Given the description of an element on the screen output the (x, y) to click on. 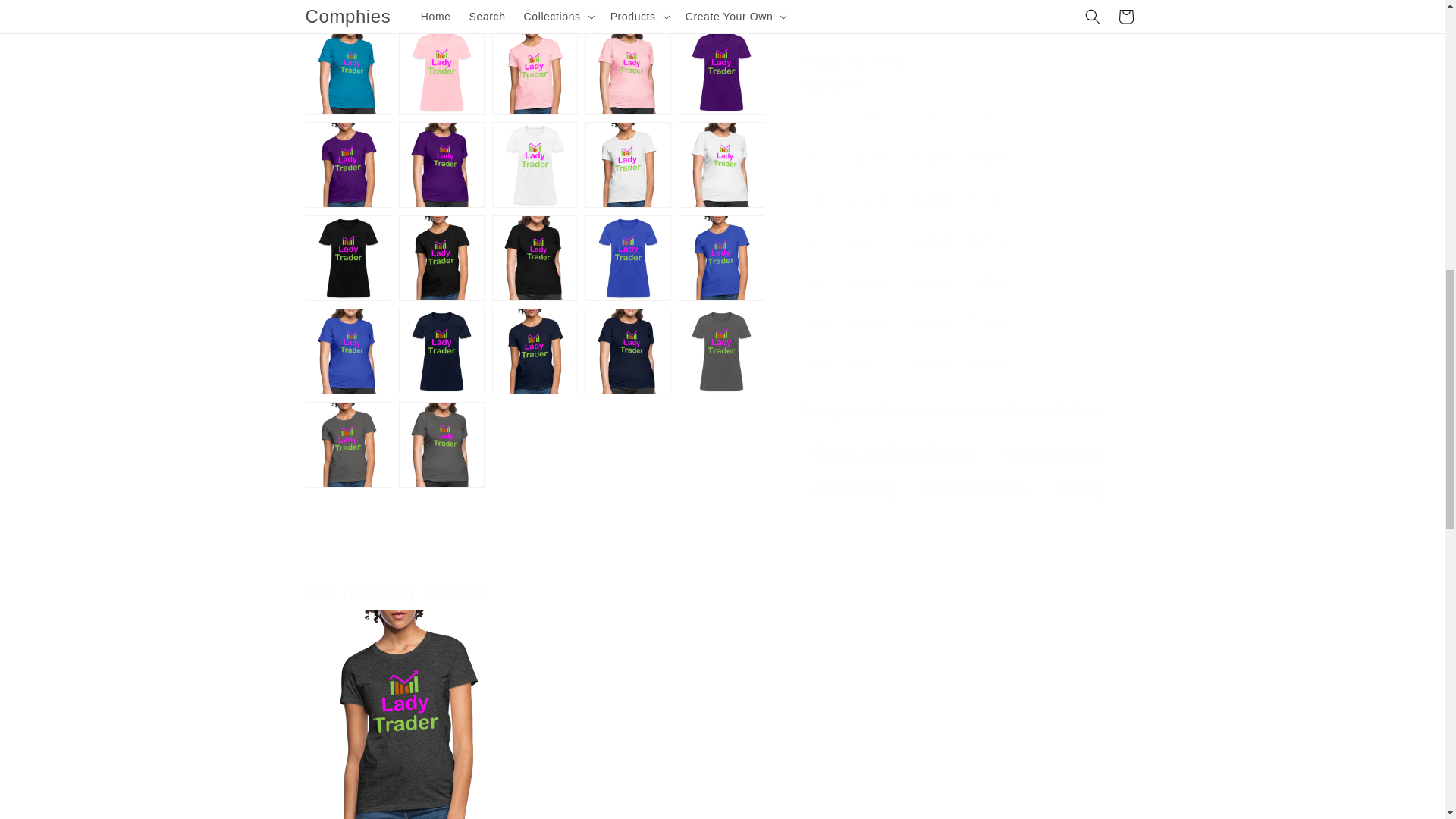
Best Selling T-Shirt Designs (894, 440)
T-Shirts (1077, 474)
Stock Market (852, 474)
Cryptocurrencies (1053, 440)
You Recently Viewed (721, 571)
